Given the description of an element on the screen output the (x, y) to click on. 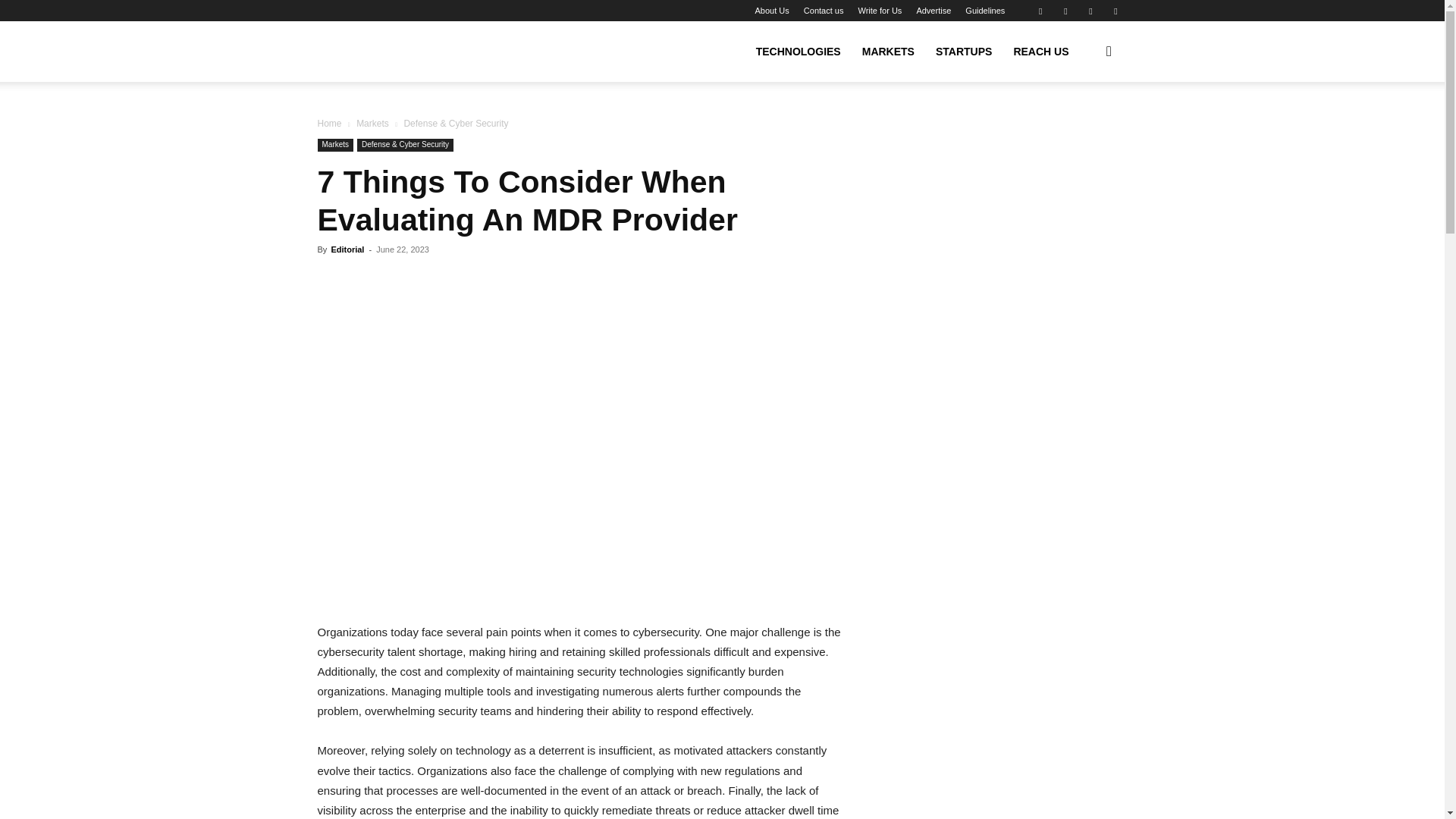
Write for Us (879, 10)
Twitter (1114, 10)
Facebook (1040, 10)
Contact us (823, 10)
About Us (772, 10)
RSS (1090, 10)
Advertise (932, 10)
Guidelines (984, 10)
Linkedin (1065, 10)
